Given the description of an element on the screen output the (x, y) to click on. 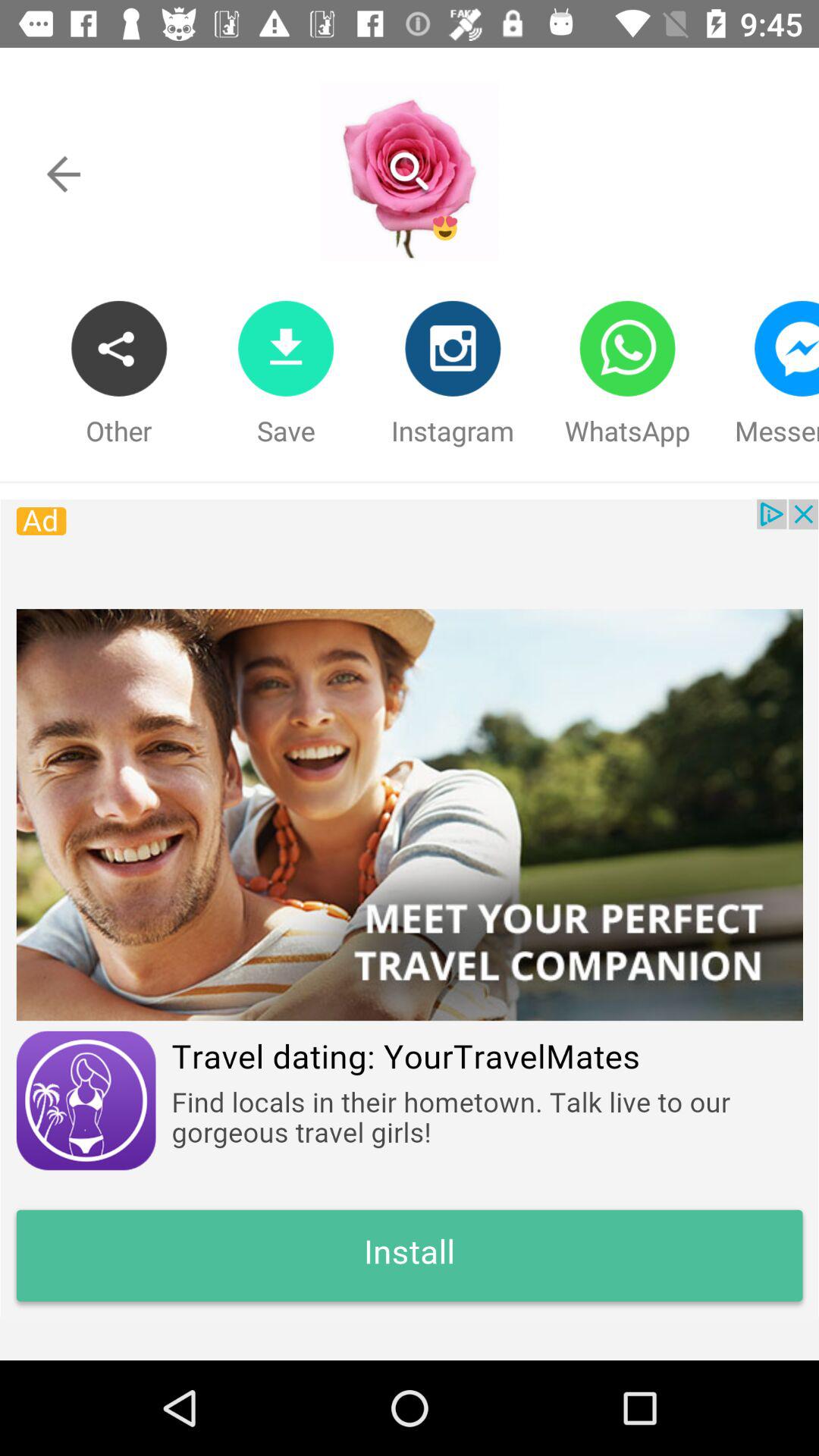
look at profile (408, 171)
